Given the description of an element on the screen output the (x, y) to click on. 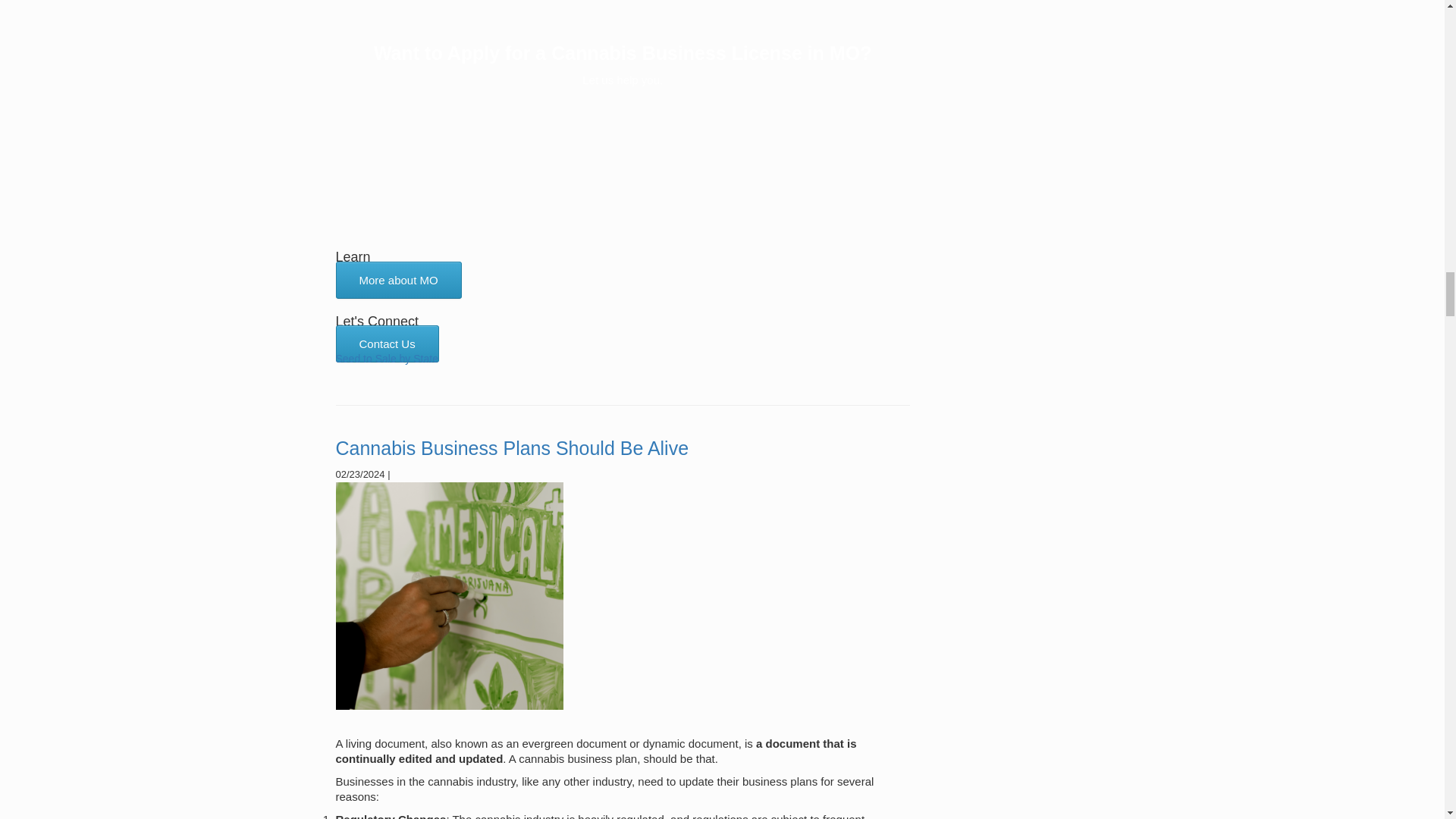
Cannabis Business Plans Should Be Alive (511, 447)
